Given the description of an element on the screen output the (x, y) to click on. 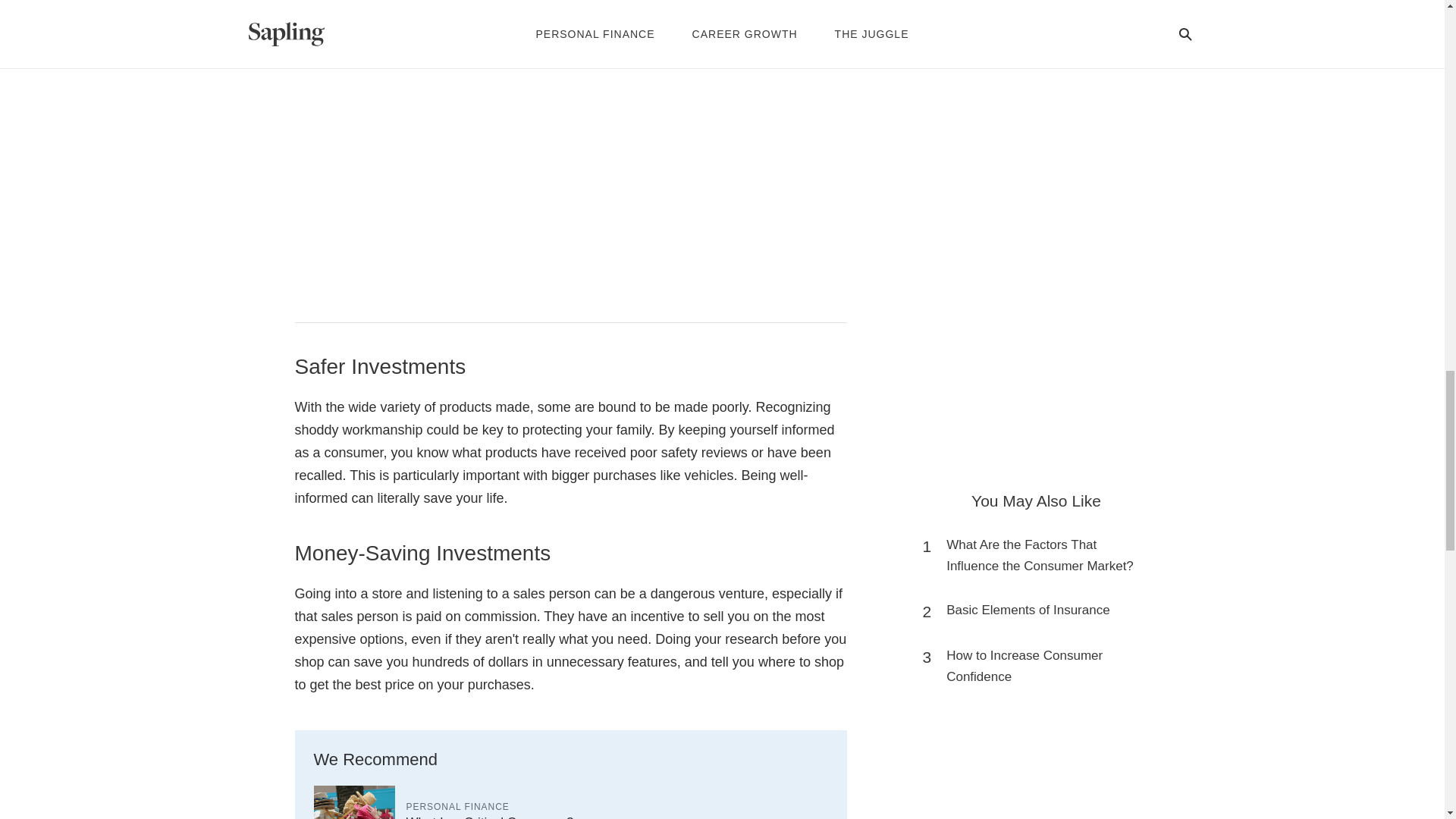
What Is a Critical Consumer? (489, 816)
Basic Elements of Insurance (1027, 609)
What Are the Factors That Influence the Consumer Market? (1043, 555)
How to Increase Consumer Confidence (1043, 666)
